Given the description of an element on the screen output the (x, y) to click on. 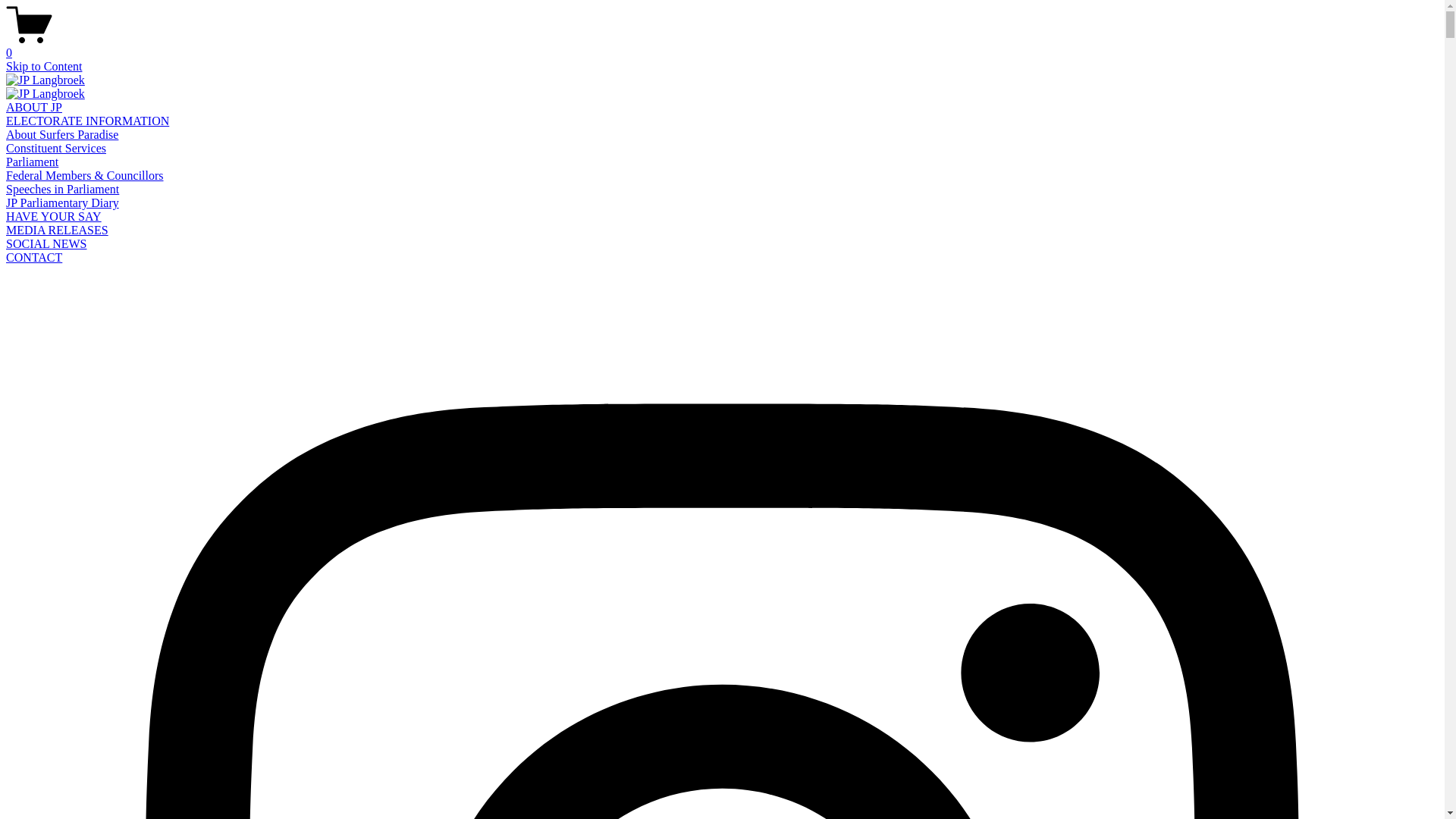
Skip to Content Element type: text (43, 65)
Parliament Element type: text (32, 161)
JP Parliamentary Diary Element type: text (62, 202)
Constituent Services Element type: text (56, 147)
ABOUT JP Element type: text (34, 106)
MEDIA RELEASES Element type: text (57, 229)
SOCIAL NEWS Element type: text (46, 243)
HAVE YOUR SAY Element type: text (53, 216)
About Surfers Paradise Element type: text (62, 134)
CONTACT Element type: text (34, 257)
Speeches in Parliament Element type: text (62, 188)
Federal Members & Councillors Element type: text (84, 175)
ELECTORATE INFORMATION Element type: text (87, 120)
0 Element type: text (722, 45)
